Given the description of an element on the screen output the (x, y) to click on. 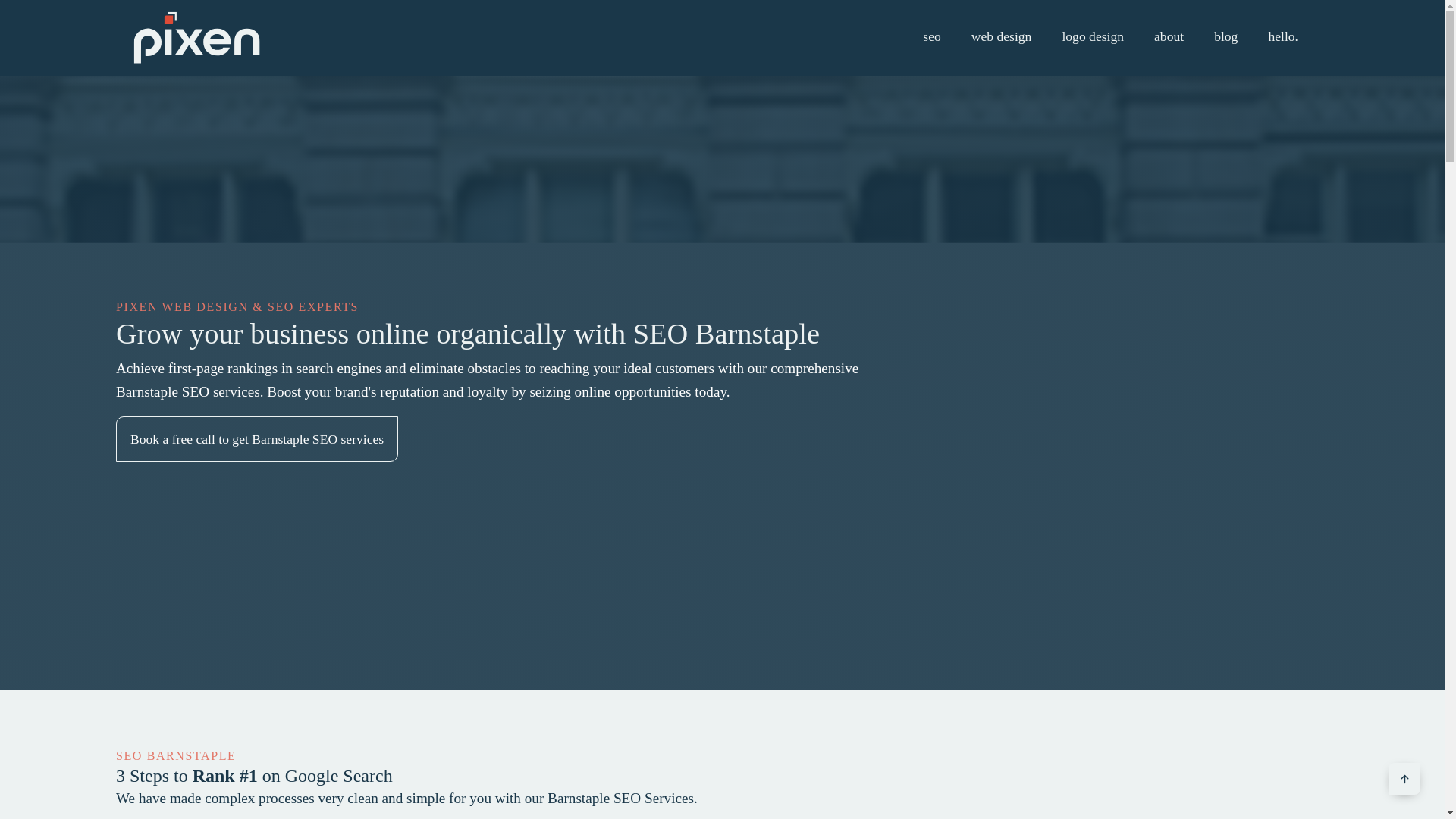
about (1169, 36)
logo design (1092, 36)
web design (1001, 36)
Book a free call to get Barnstaple SEO services (256, 438)
hello. (1282, 36)
seo (930, 36)
blog (1225, 36)
